Given the description of an element on the screen output the (x, y) to click on. 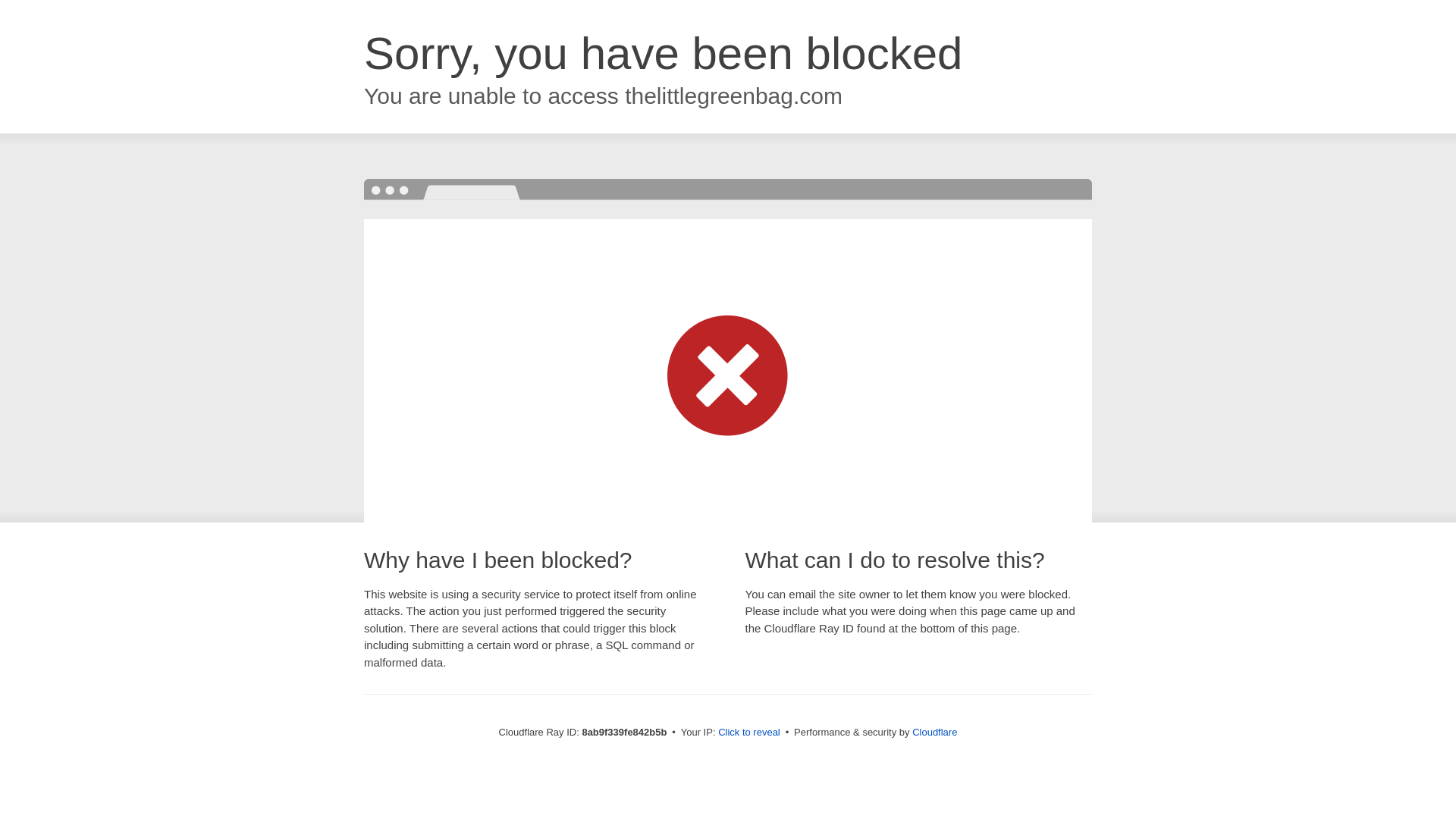
Cloudflare (934, 731)
Click to reveal (748, 732)
